Given the description of an element on the screen output the (x, y) to click on. 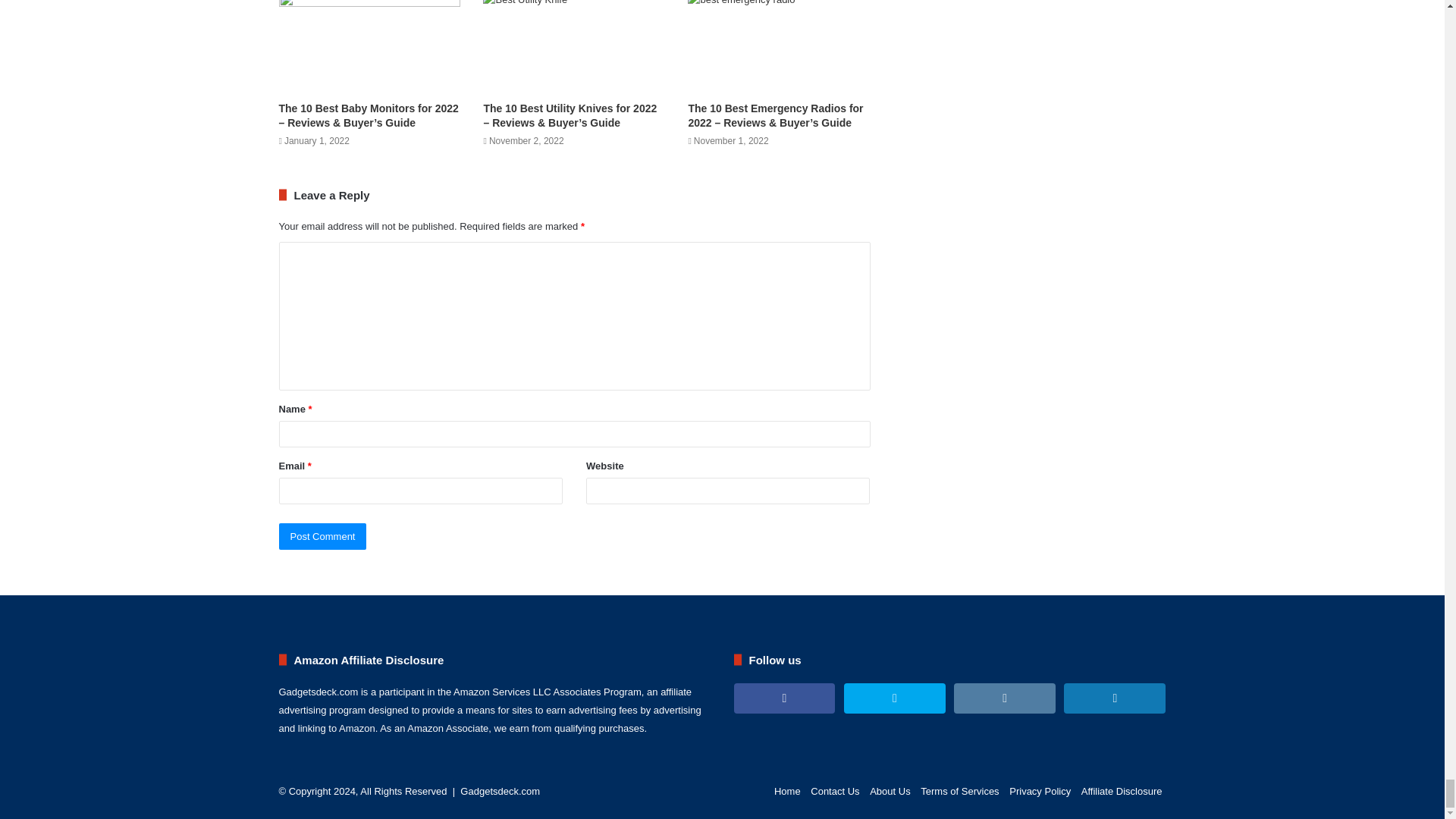
Post Comment (322, 536)
